Given the description of an element on the screen output the (x, y) to click on. 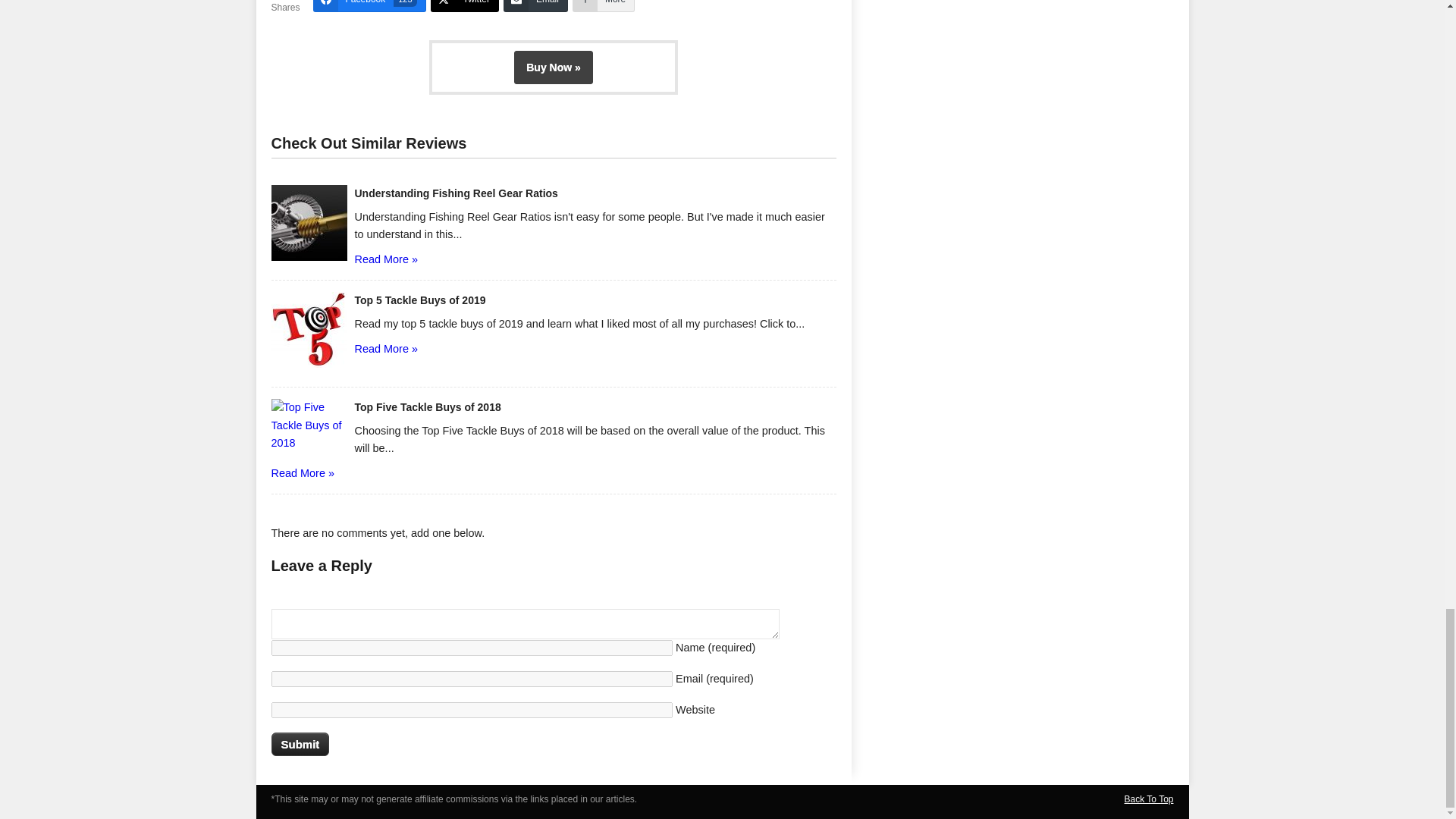
Submit (300, 743)
Understanding Fishing Reel Gear Ratios (456, 193)
Top Five Tackle Buys of 2018 (427, 407)
Submit (300, 743)
Top 5 Tackle Buys of 2019 (420, 300)
More (369, 6)
Twitter (603, 6)
Back To Top (464, 6)
Email (1148, 798)
